Given the description of an element on the screen output the (x, y) to click on. 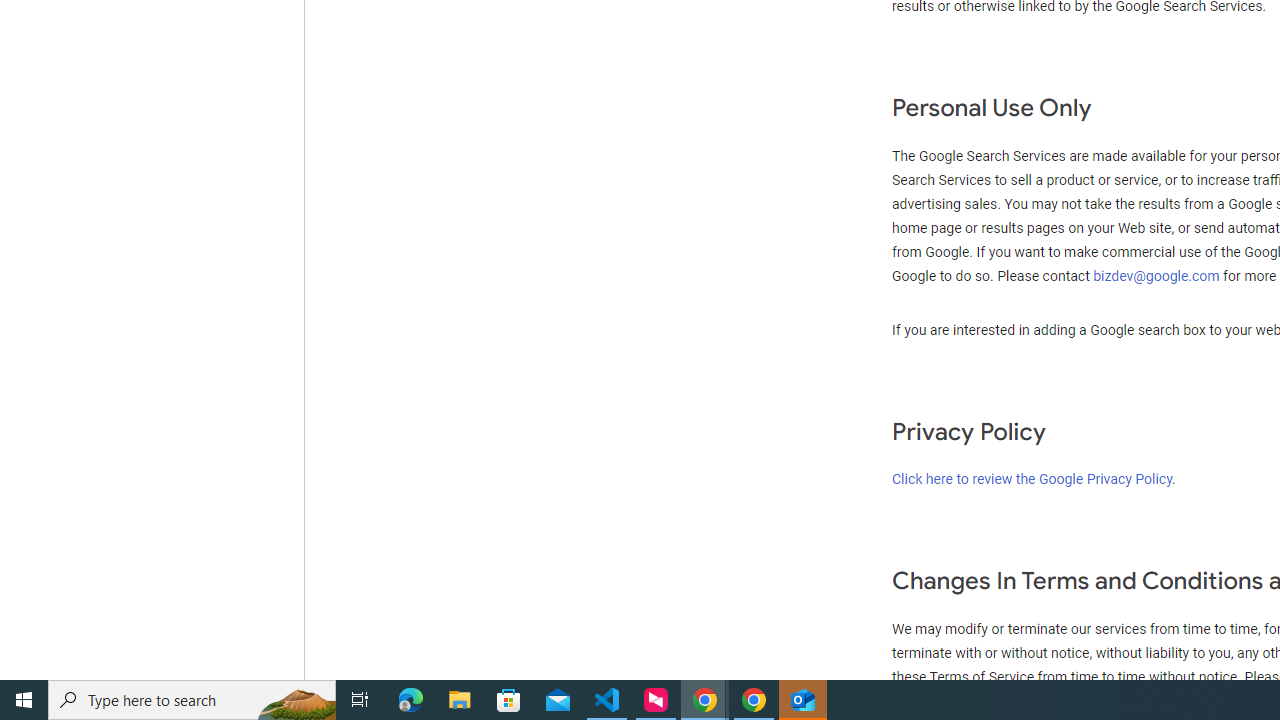
bizdev@google.com  (1158, 276)
Click here to review the Google Privacy Policy (1032, 479)
